Given the description of an element on the screen output the (x, y) to click on. 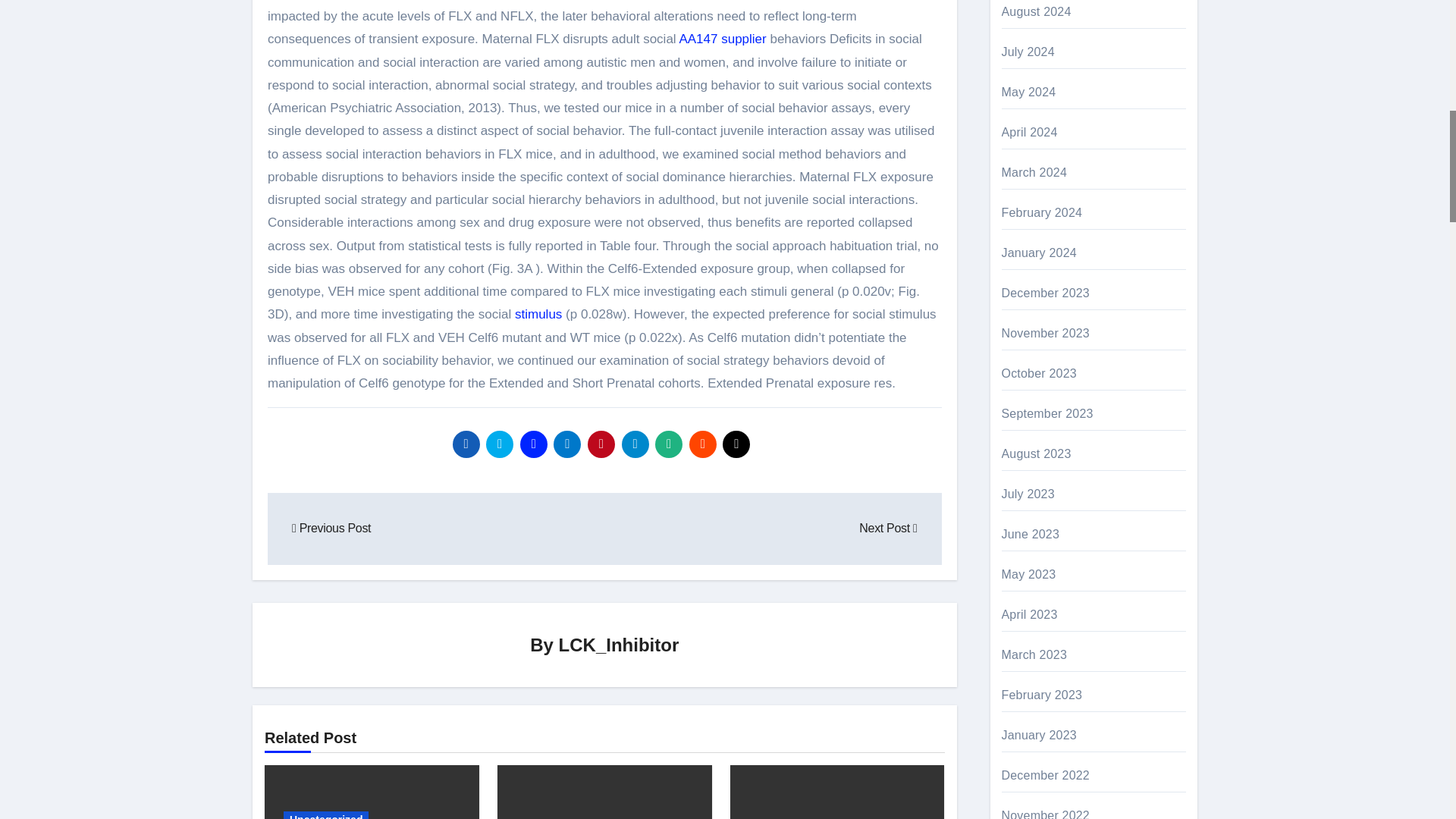
stimulus (538, 314)
Previous Post (331, 527)
Next Post (888, 527)
Uncategorized (325, 815)
AA147 supplier (721, 38)
